Given the description of an element on the screen output the (x, y) to click on. 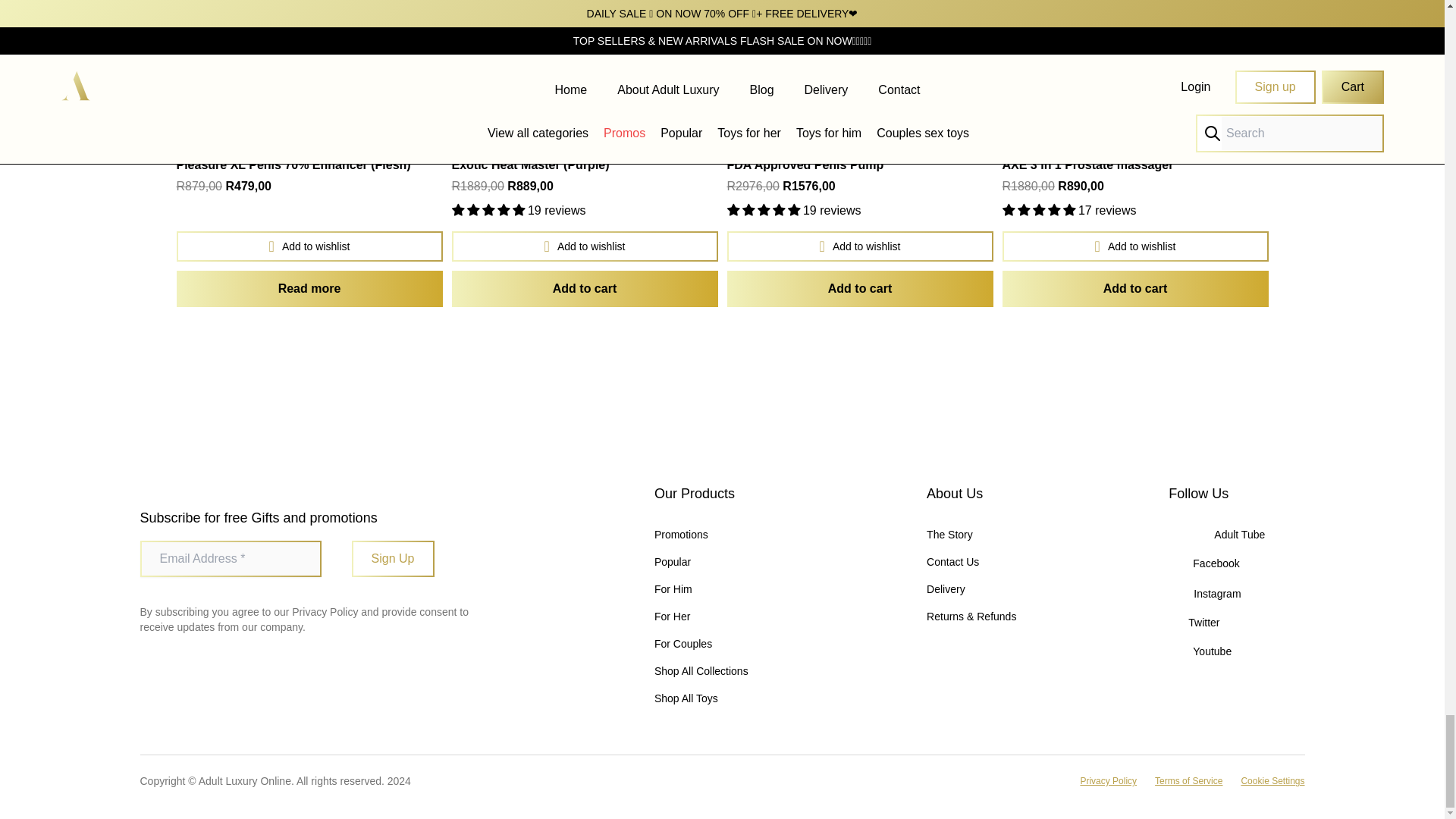
Email Address (229, 558)
Sign Up (392, 558)
